Given the description of an element on the screen output the (x, y) to click on. 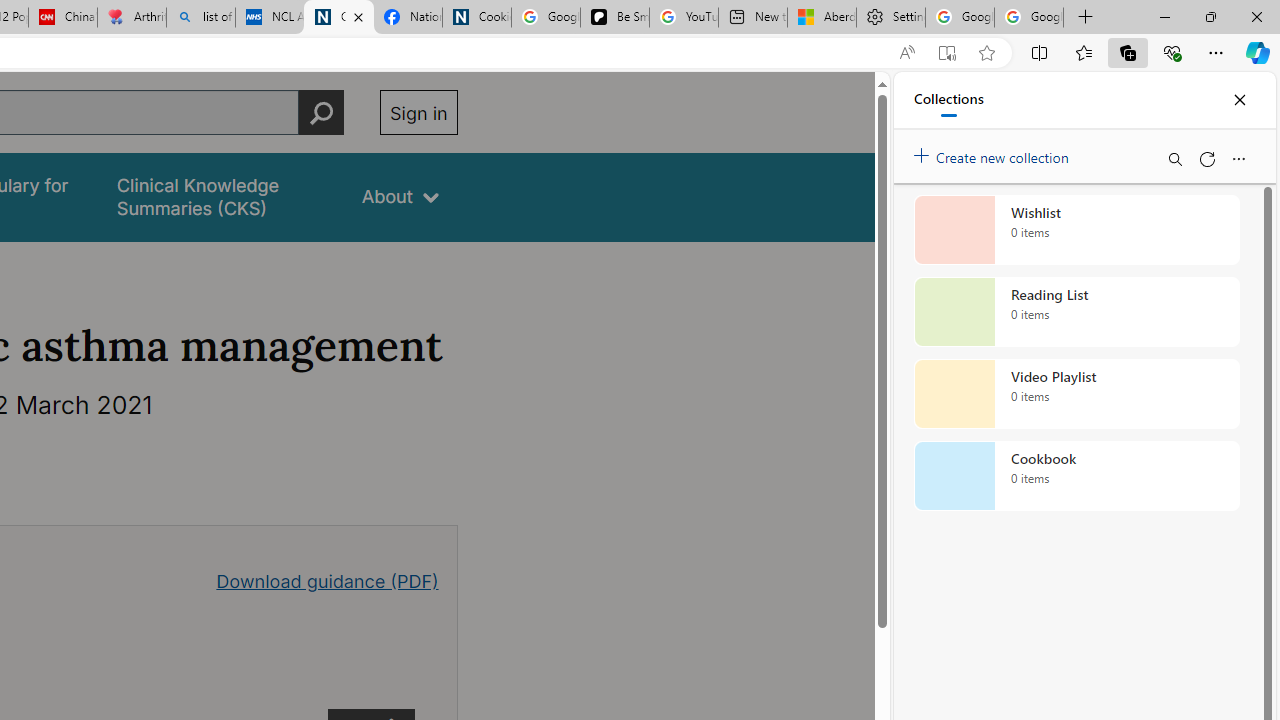
Cookies (476, 17)
Be Smart | creating Science videos | Patreon (614, 17)
Video Playlist collection, 0 items (1076, 394)
Perform search (321, 112)
Reading List collection, 0 items (1076, 312)
